Given the description of an element on the screen output the (x, y) to click on. 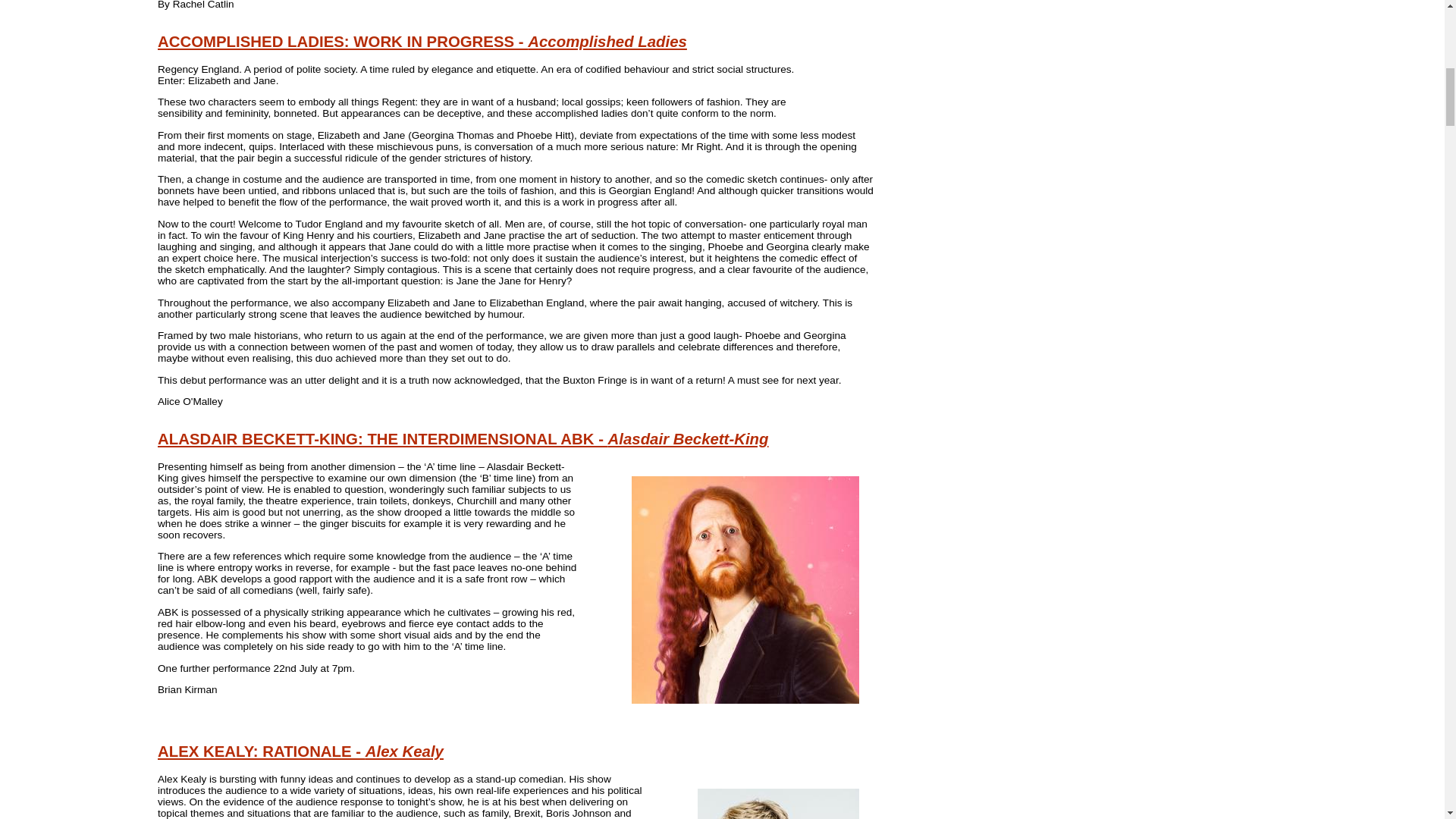
ALEX KEALY: RATIONALE - Alex Kealy (300, 751)
ACCOMPLISHED LADIES: WORK IN PROGRESS - Accomplished Ladies (422, 41)
